Given the description of an element on the screen output the (x, y) to click on. 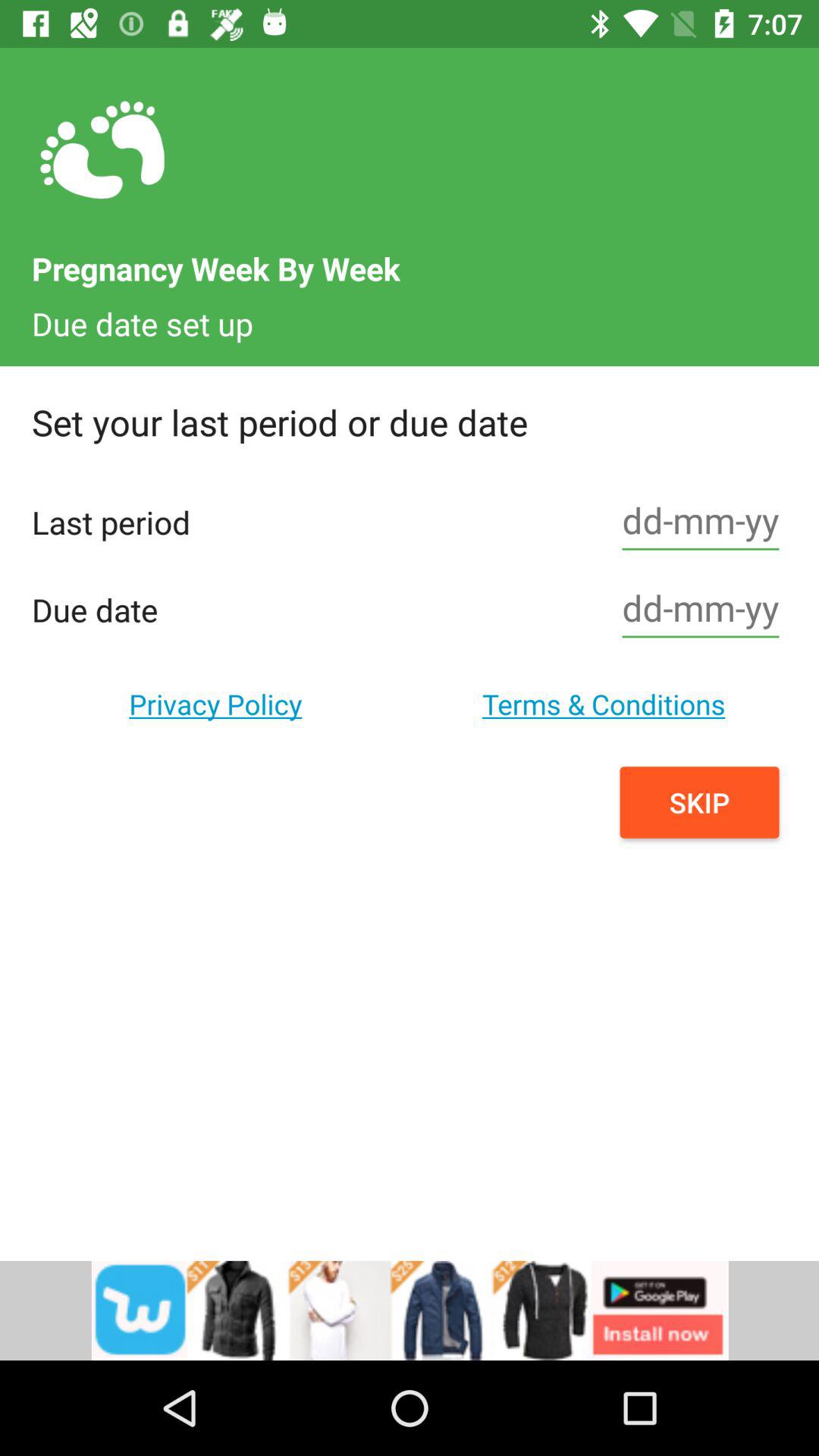
install button (409, 1310)
